Given the description of an element on the screen output the (x, y) to click on. 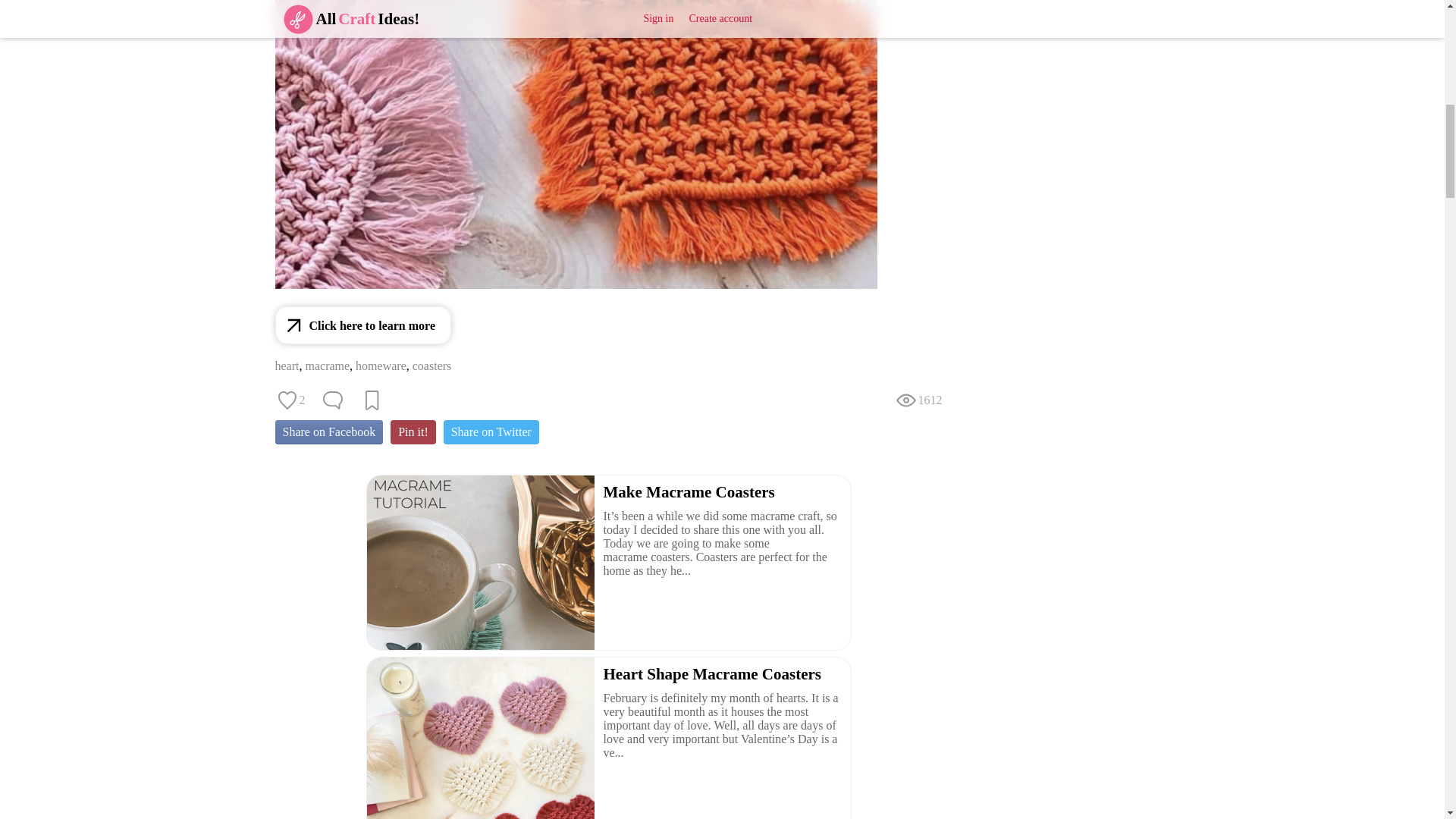
Share on Twitter (491, 432)
macrame (326, 365)
heart (286, 365)
Pin it! (412, 432)
Comments (331, 400)
Views (917, 400)
Click here to learn more (362, 324)
coasters (431, 365)
homeware (380, 365)
Share on Facebook (328, 432)
